Given the description of an element on the screen output the (x, y) to click on. 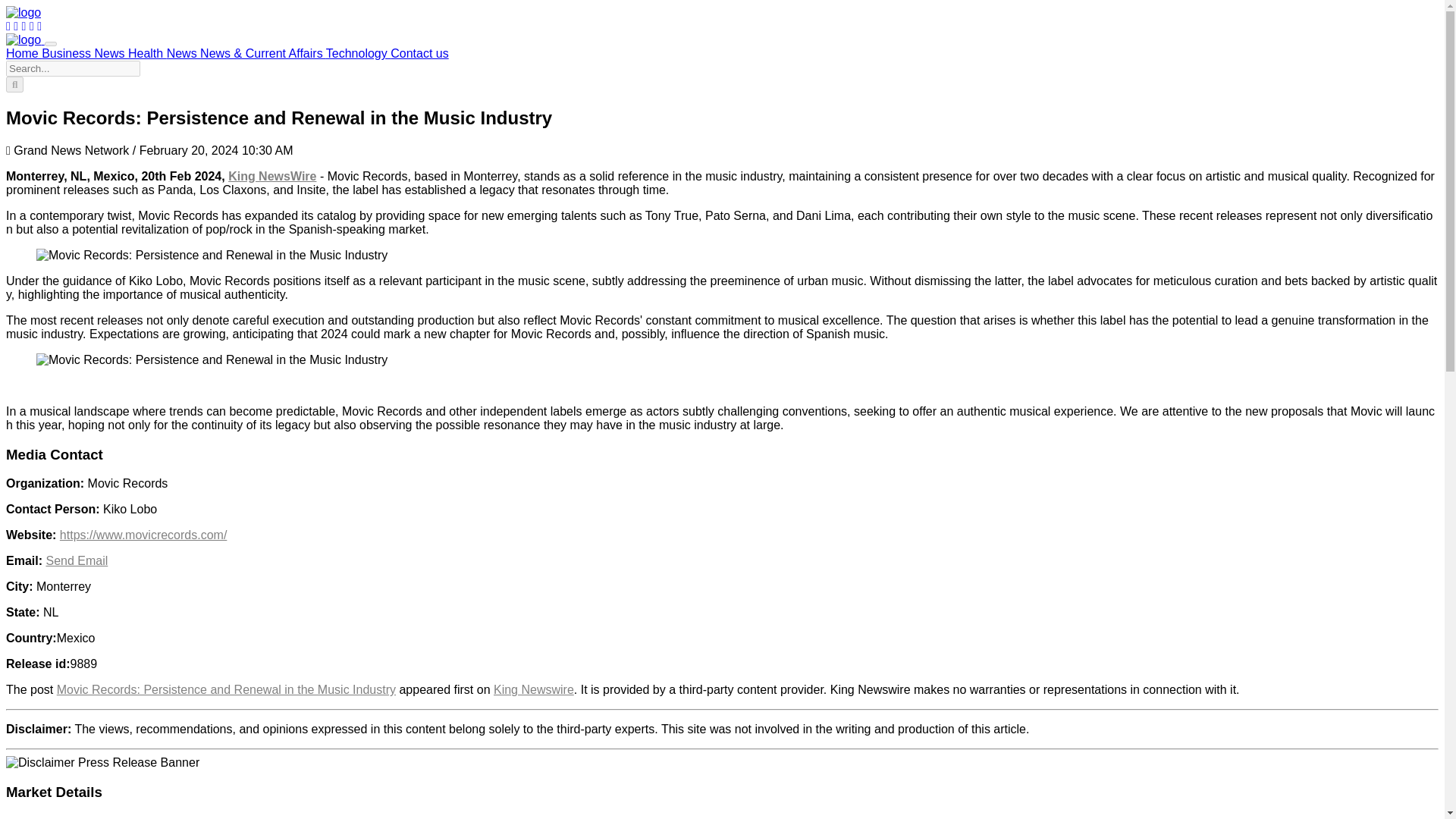
King Newswire (533, 689)
King NewsWire (271, 175)
Home (23, 52)
Contact us (419, 52)
Health (147, 52)
Business News (85, 52)
Grand News Network (68, 150)
Send Email (76, 560)
Movic Records: Persistence and Renewal in the Music Industry (226, 689)
News (183, 52)
Technology (358, 52)
